Given the description of an element on the screen output the (x, y) to click on. 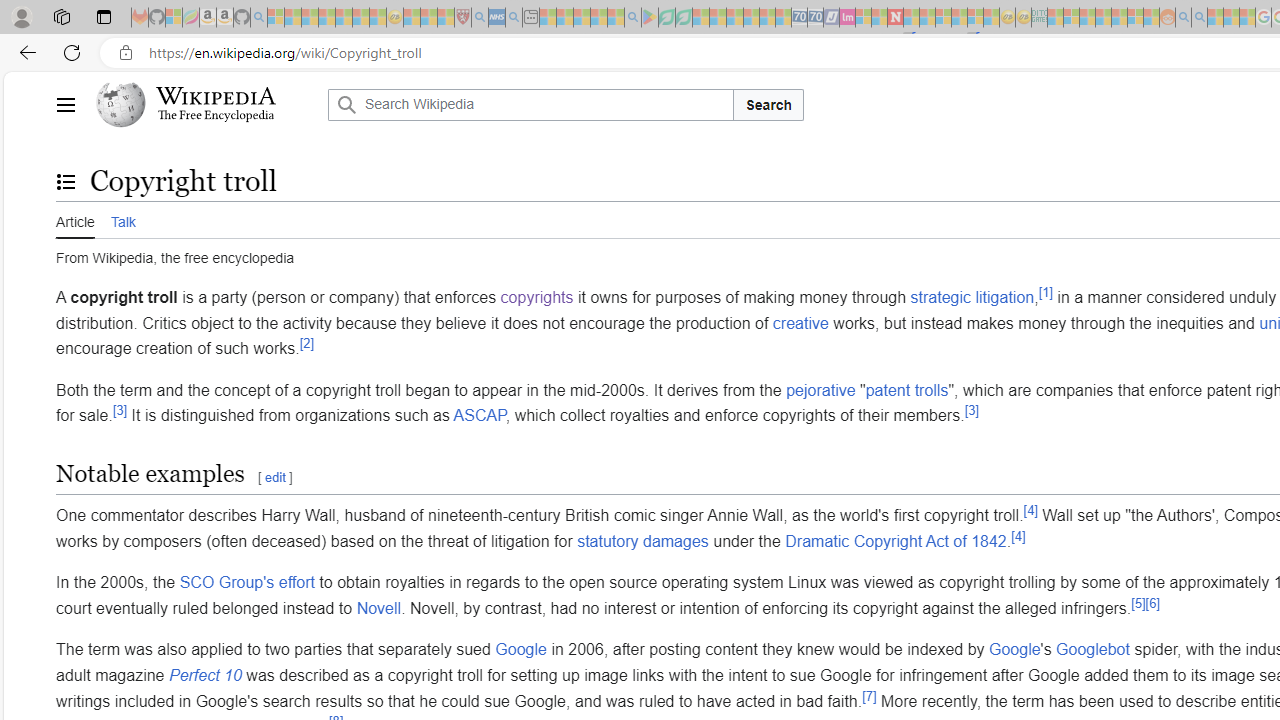
Main menu (65, 104)
[1] (1045, 291)
patent trolls (906, 389)
Google (1014, 649)
Article (75, 219)
Dramatic Copyright Act of 1842 (895, 541)
